Given the description of an element on the screen output the (x, y) to click on. 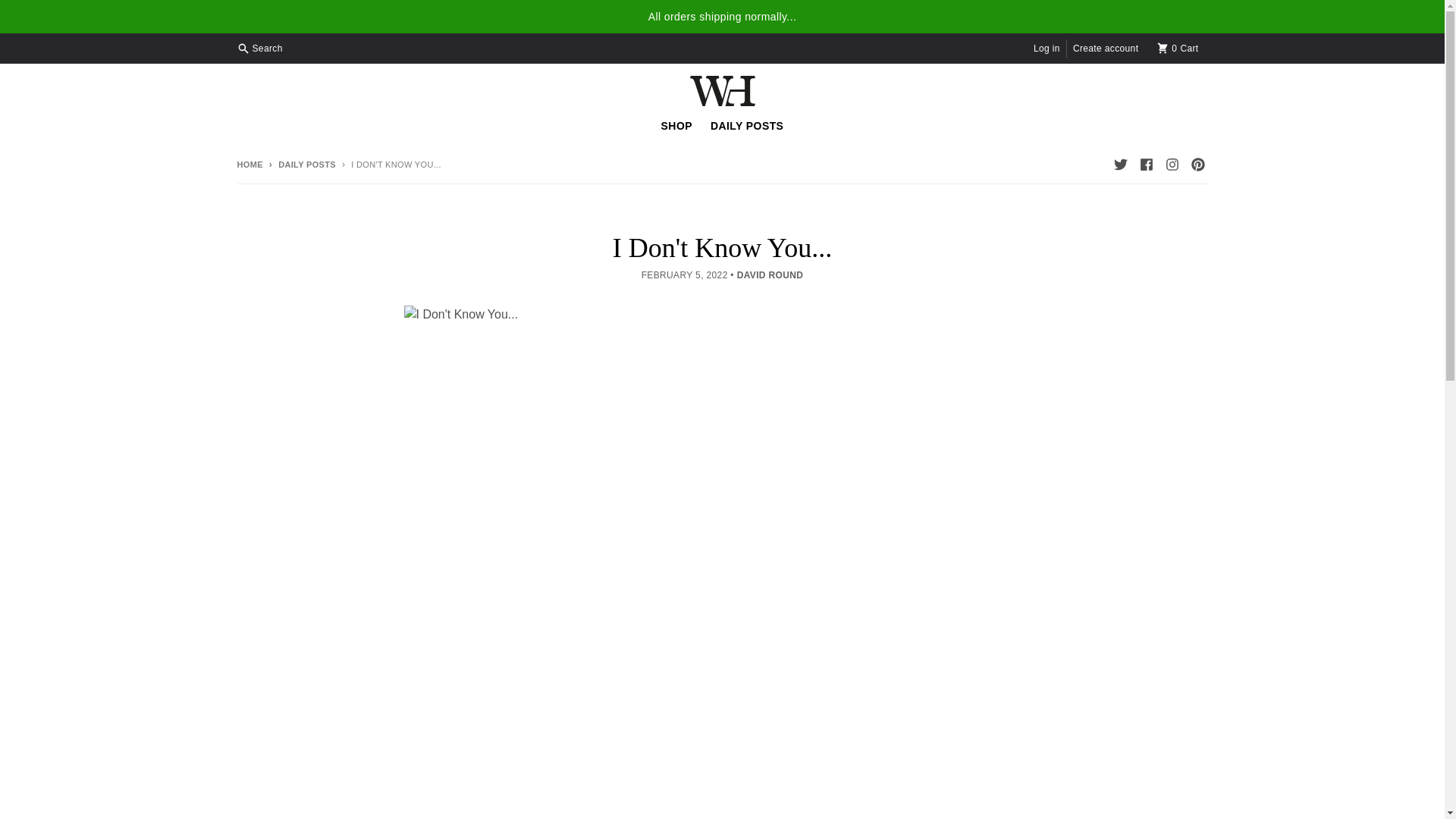
Create account (1104, 48)
Back to the homepage (248, 163)
SHOP (676, 125)
Facebook - William Hannah Limited (1145, 164)
DAILY POSTS (746, 125)
Search (260, 48)
Twitter - William Hannah Limited (1119, 164)
Instagram - William Hannah Limited (1170, 164)
HOME (248, 163)
Pinterest - William Hannah Limited (1197, 164)
Log in (1046, 48)
DAILY POSTS (1178, 48)
